Given the description of an element on the screen output the (x, y) to click on. 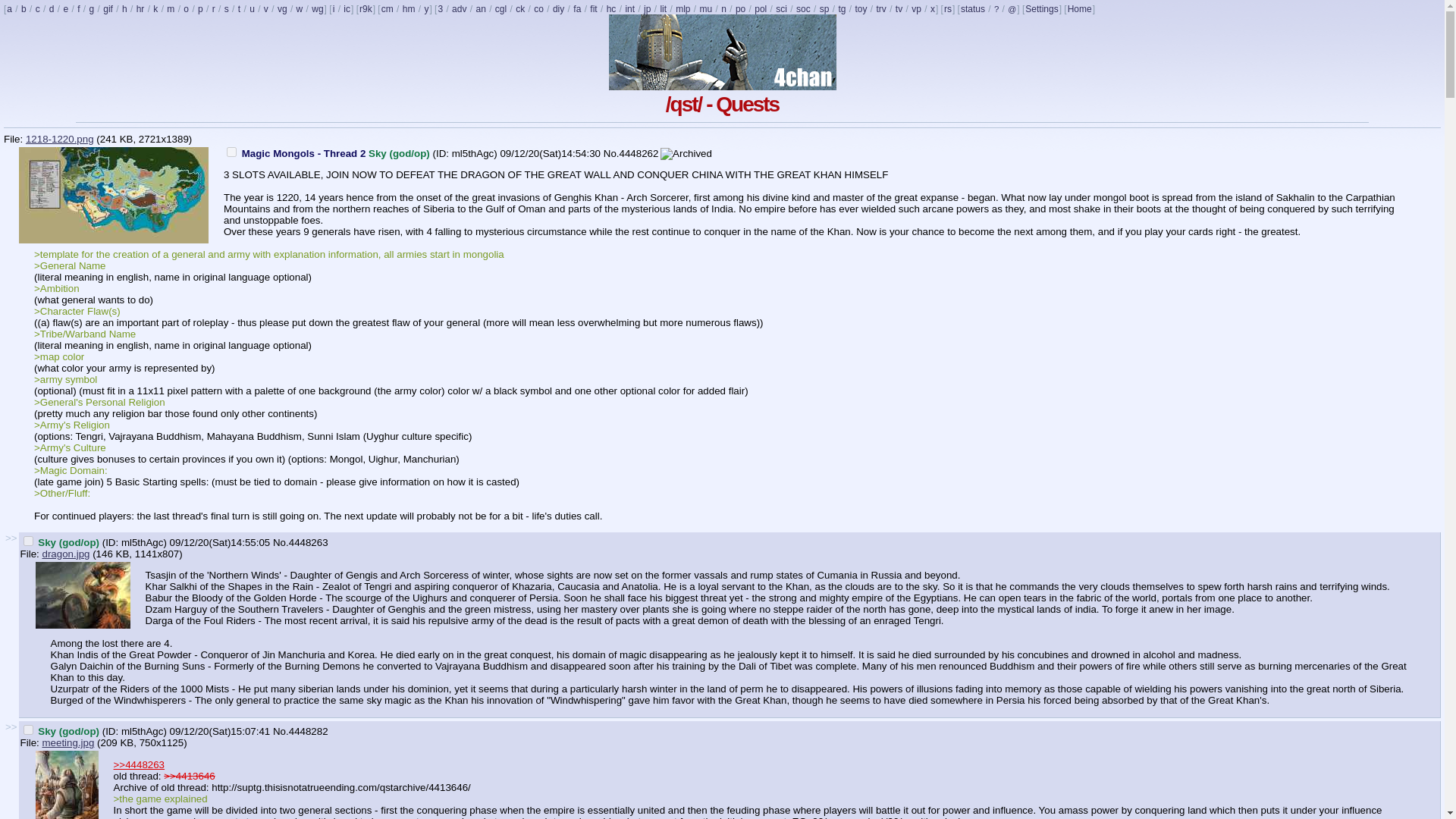
r9k (365, 9)
an (480, 9)
cgl (500, 9)
Animated GIF (107, 9)
adv (459, 9)
vg (282, 9)
cm (387, 9)
delete (28, 541)
hc (611, 9)
delete (28, 729)
